Given the description of an element on the screen output the (x, y) to click on. 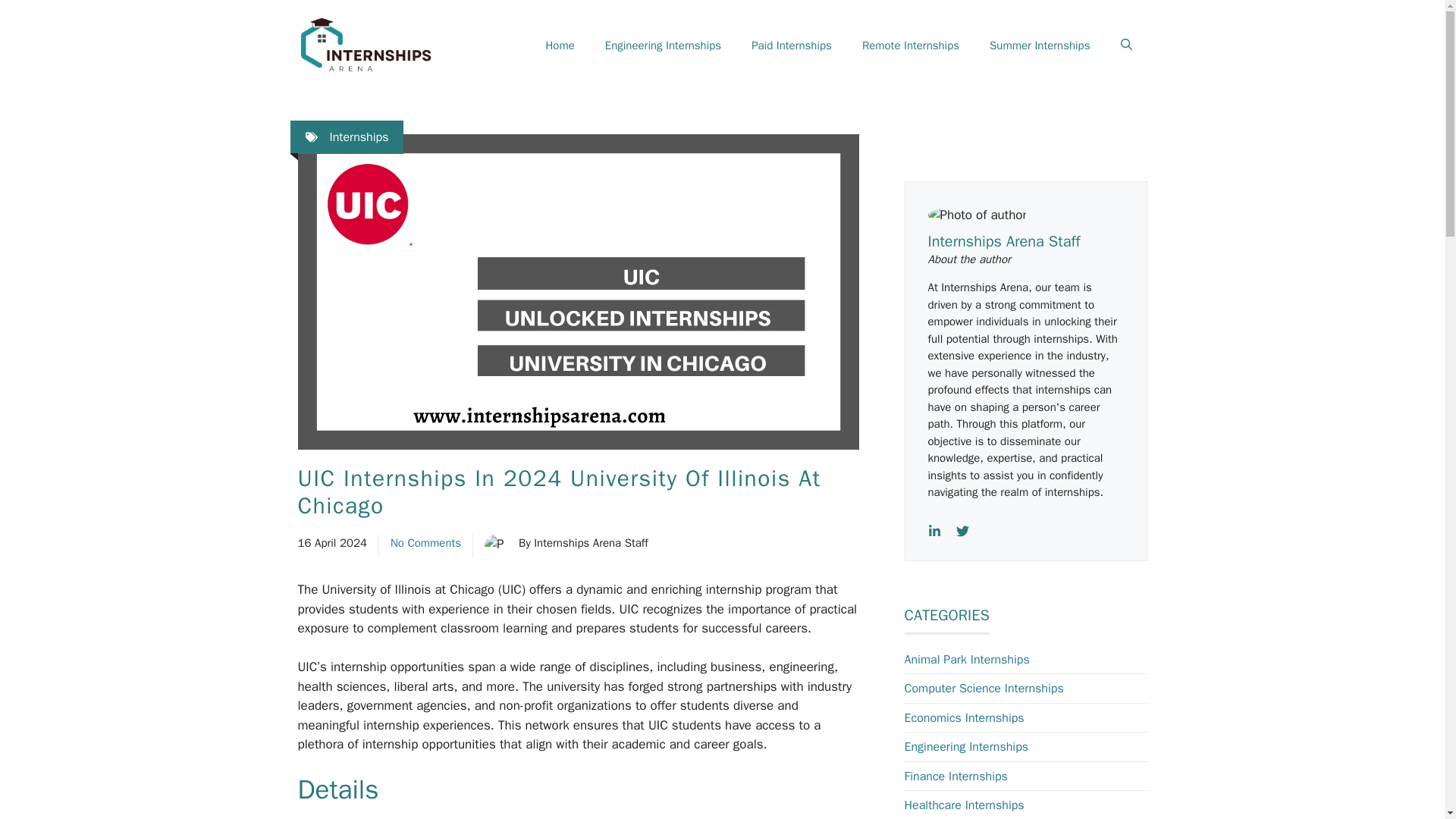
Home (559, 44)
Engineering Internships (965, 746)
Finance Internships (955, 776)
No Comments (425, 542)
Animal Park Internships (966, 659)
Summer Internships (1039, 44)
Paid Internships (791, 44)
Healthcare Internships (963, 805)
Engineering Internships (662, 44)
Internships (358, 136)
Computer Science Internships (983, 688)
Remote Internships (910, 44)
Economics Internships (963, 717)
